Given the description of an element on the screen output the (x, y) to click on. 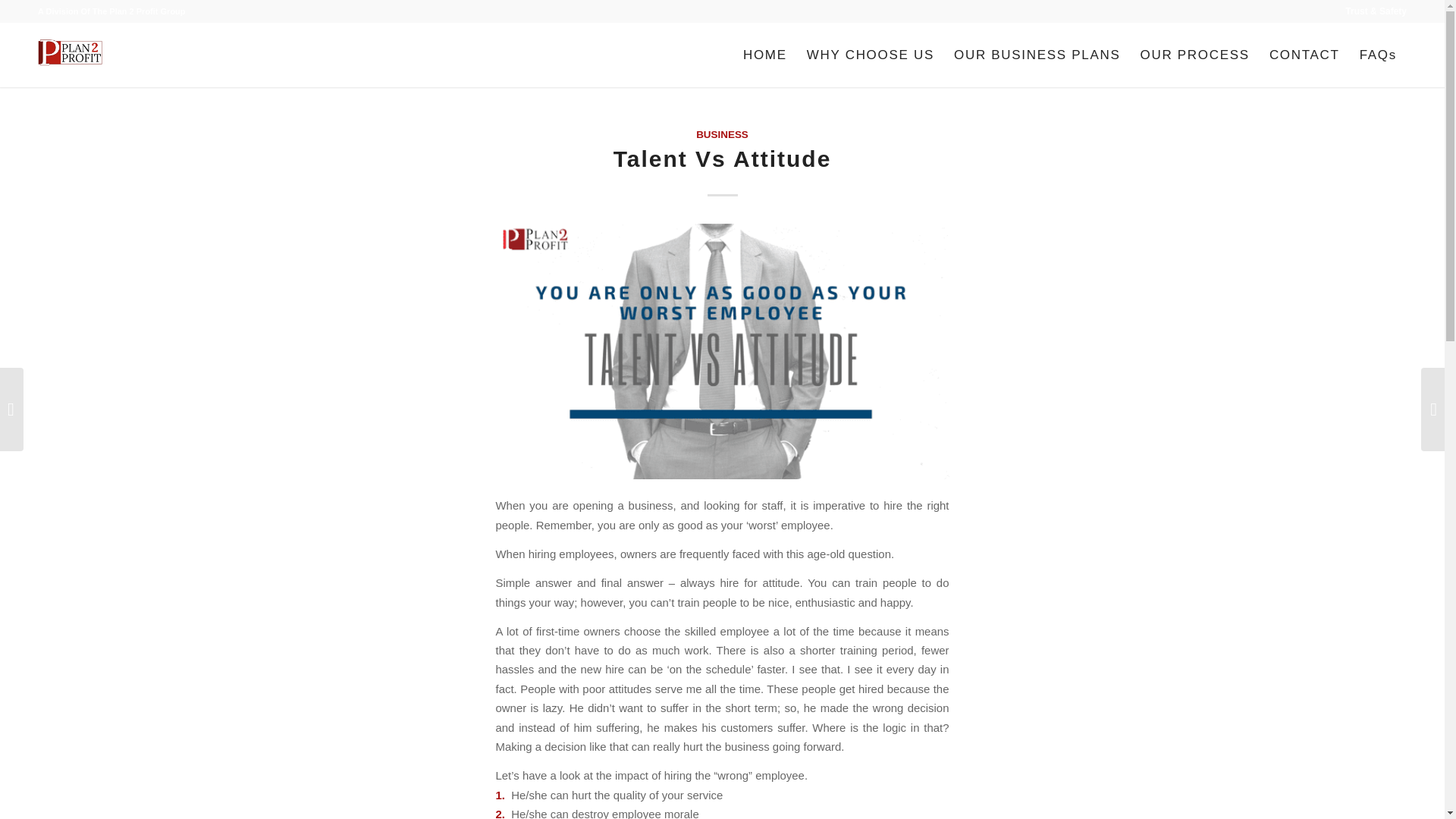
CONTACT (1304, 54)
BUSINESS (721, 134)
OUR BUSINESS PLANS (1037, 54)
Talent-vs-attitude-1 (722, 350)
HOME (764, 54)
OUR PROCESS (1195, 54)
WHY CHOOSE US (869, 54)
